Given the description of an element on the screen output the (x, y) to click on. 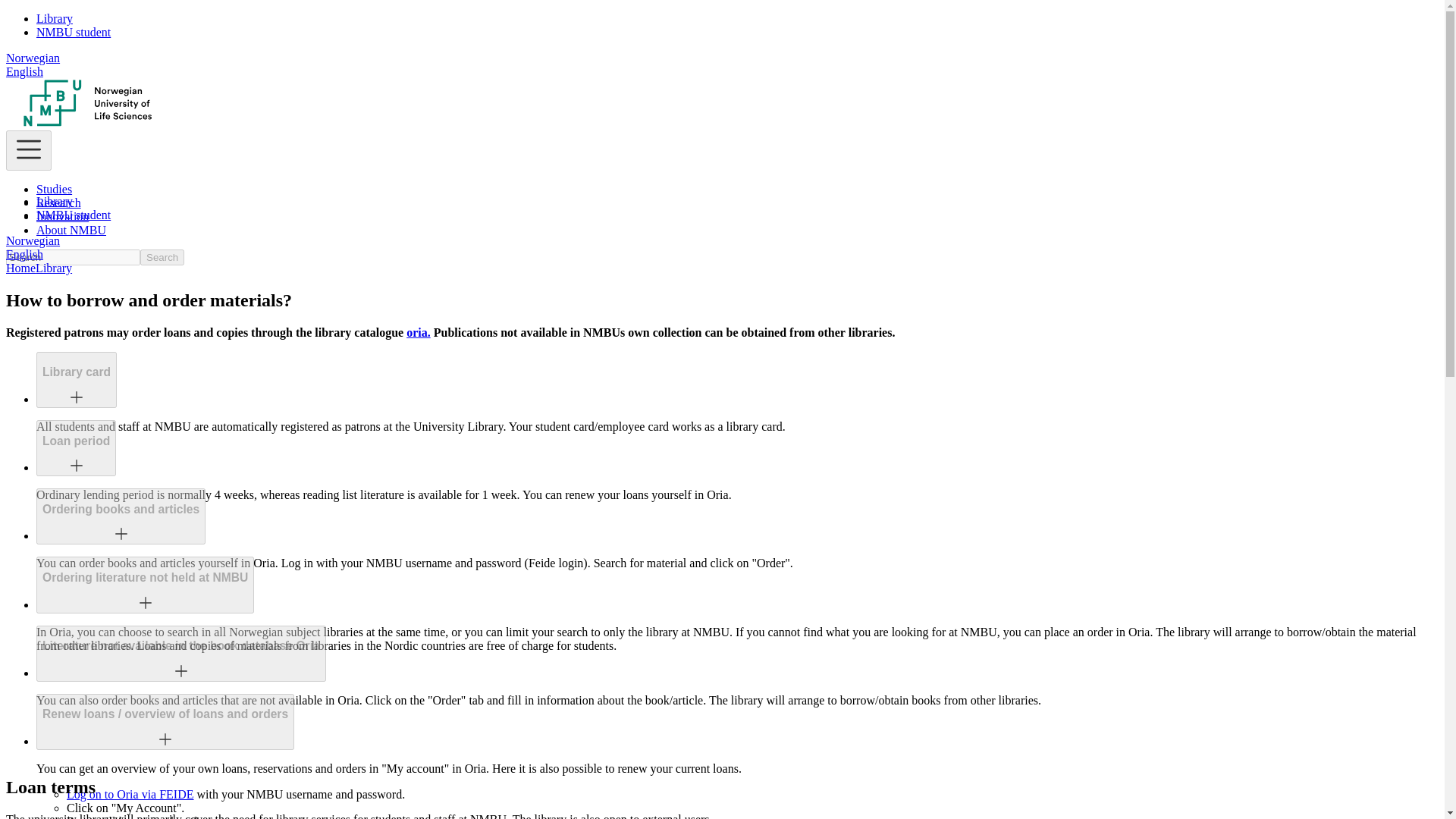
Menu (27, 150)
Norwegian (32, 57)
English (24, 254)
Library (54, 18)
oria. (418, 332)
Research (58, 202)
Loan period (76, 440)
Log on to Oria via FEIDE (129, 793)
NMBU student (73, 31)
Literature not available in the book database Oria (181, 645)
Ordering literature not held at NMBU (144, 577)
Ordering books and articles (120, 509)
Literature not available in the book database Oria (181, 653)
NMBU (87, 123)
Search (161, 257)
